Given the description of an element on the screen output the (x, y) to click on. 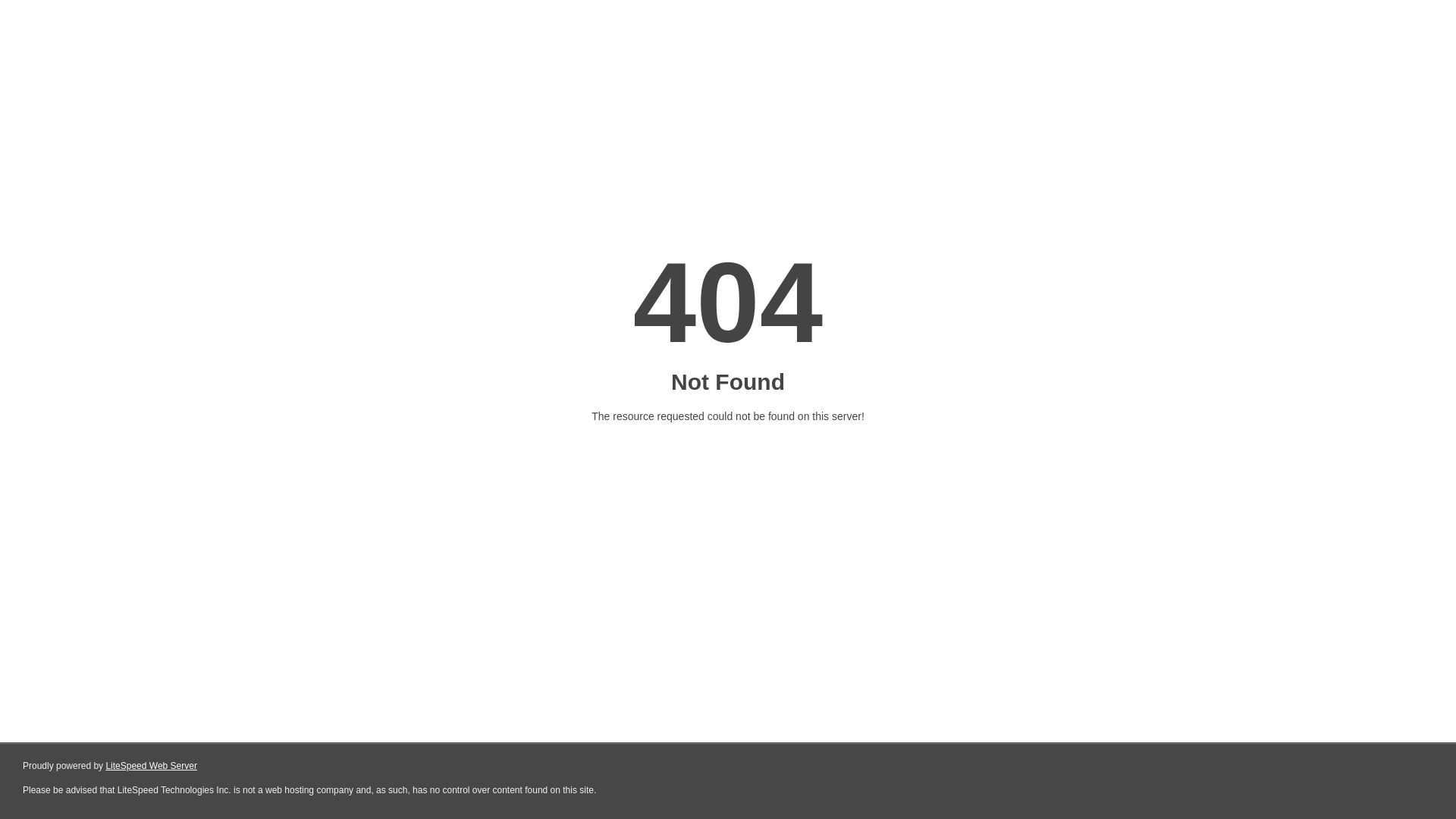
LiteSpeed Web Server Element type: text (151, 765)
